Given the description of an element on the screen output the (x, y) to click on. 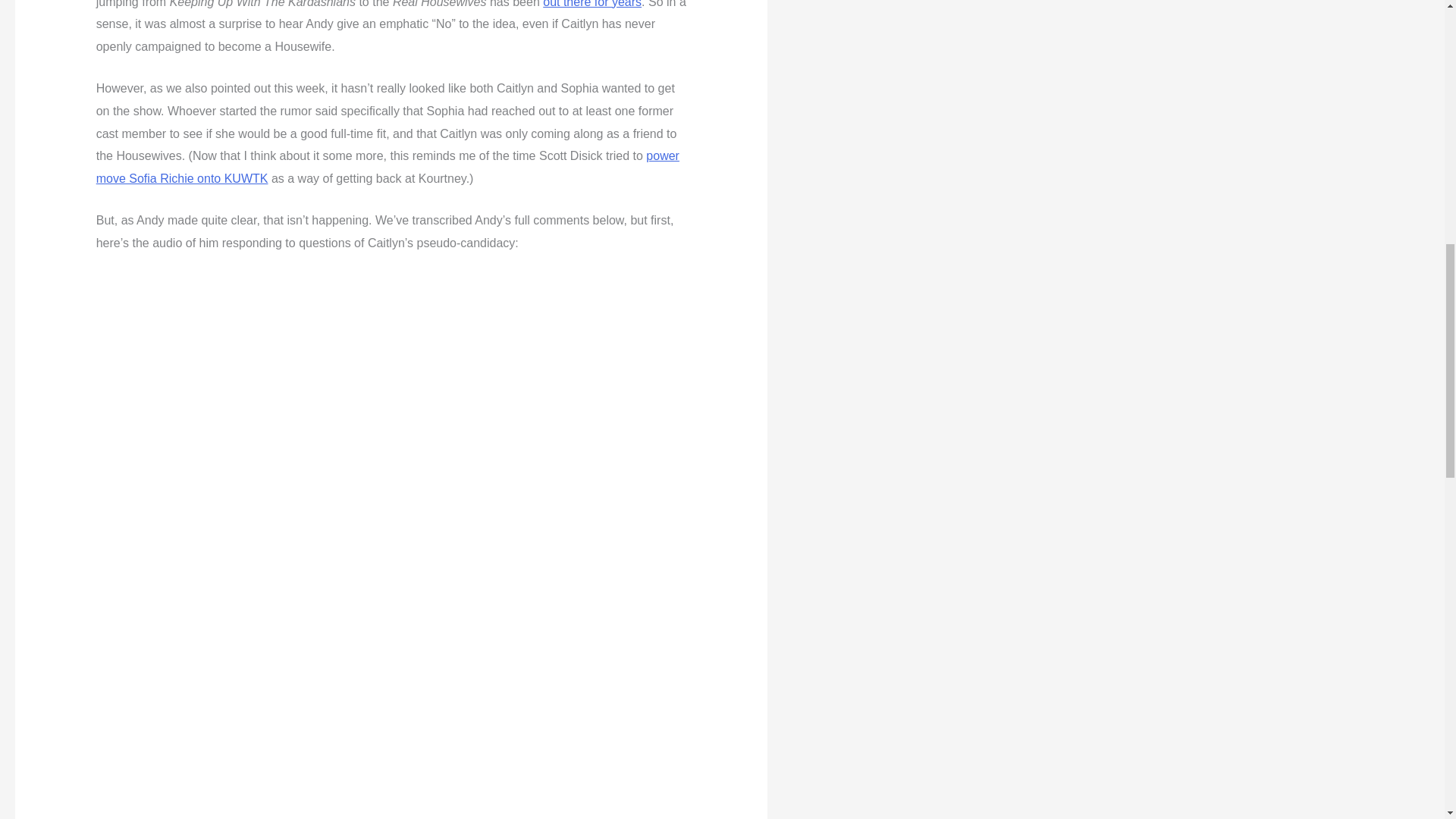
out there for years (592, 4)
